Given the description of an element on the screen output the (x, y) to click on. 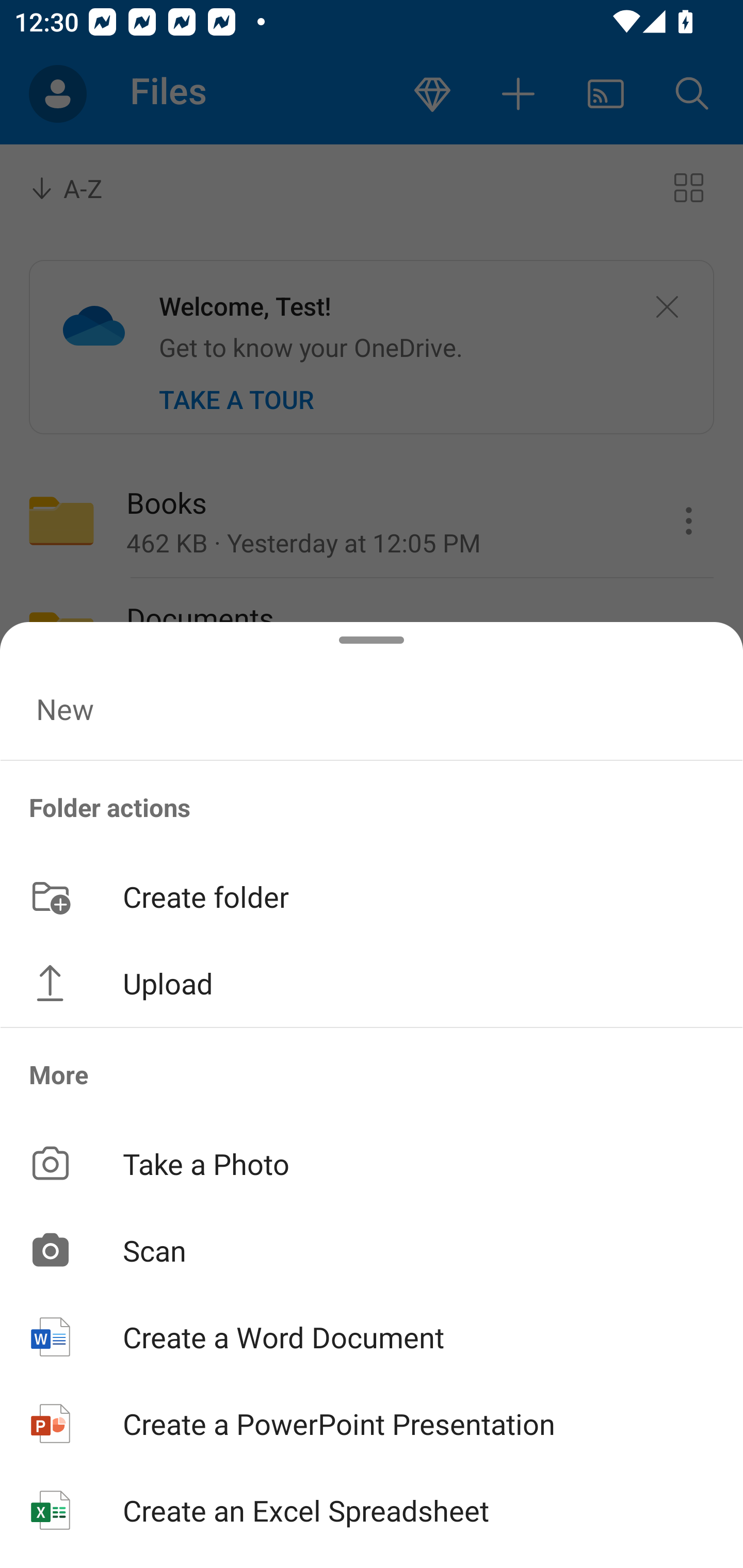
Create folder button Create folder (371, 895)
Upload button Upload (371, 983)
Take a Photo button Take a Photo (371, 1163)
Scan button Scan (371, 1250)
